Given the description of an element on the screen output the (x, y) to click on. 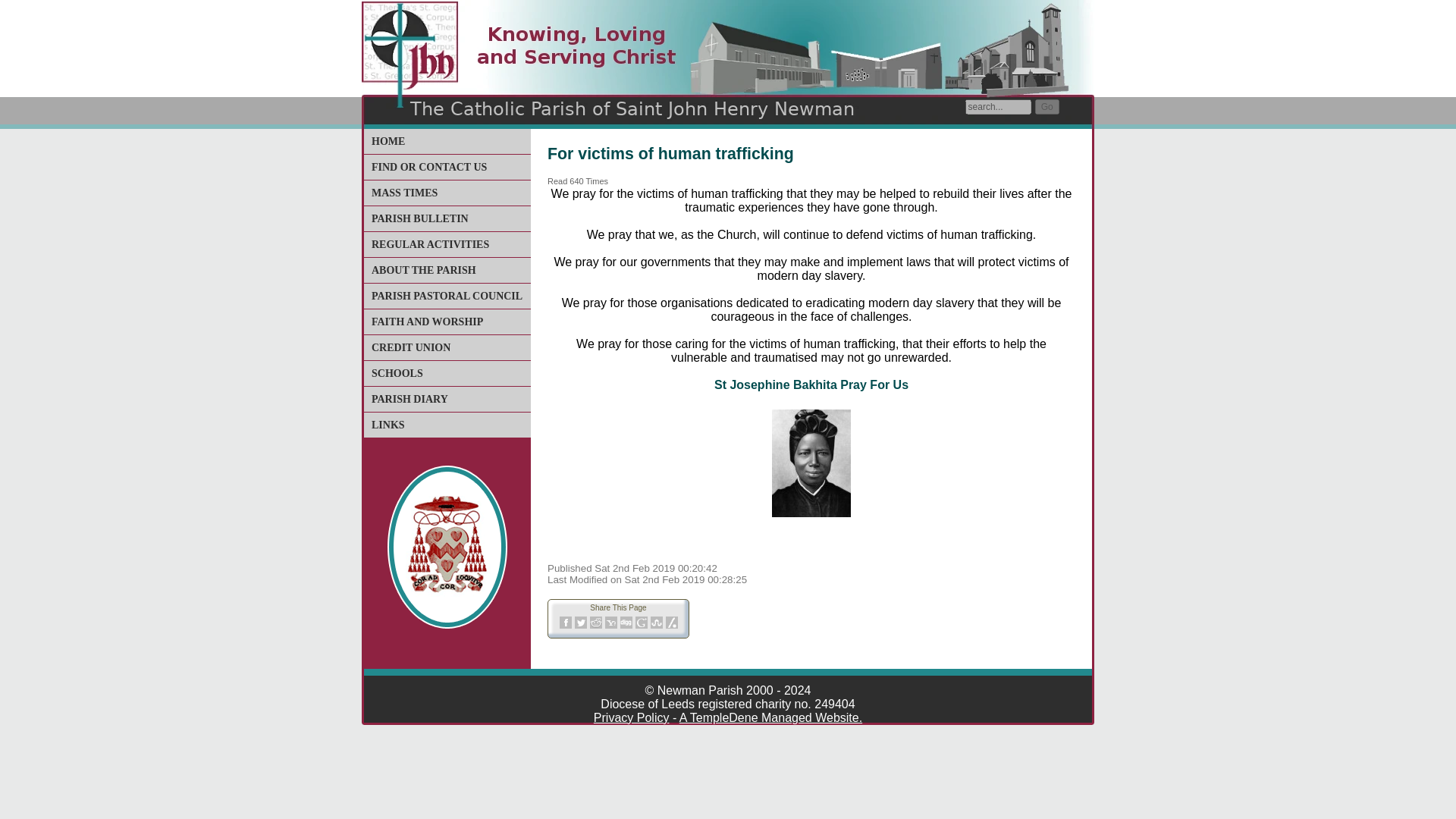
FIND OR CONTACT US (428, 166)
Share on Twitter (580, 622)
REGULAR ACTIVITIES (430, 244)
A TempleDene Managed Website. (770, 717)
PARISH PASTORAL COUNCIL (446, 296)
Go (1047, 106)
Faith and Worship (427, 321)
Locations and Contact Details (428, 166)
Go (1047, 106)
Mass Times for all Churches (404, 193)
PARISH DIARY (409, 398)
The Parish of the Bl. John Henry Newman (387, 141)
search... (998, 106)
HOME (387, 141)
About Our Parish (423, 270)
